Given the description of an element on the screen output the (x, y) to click on. 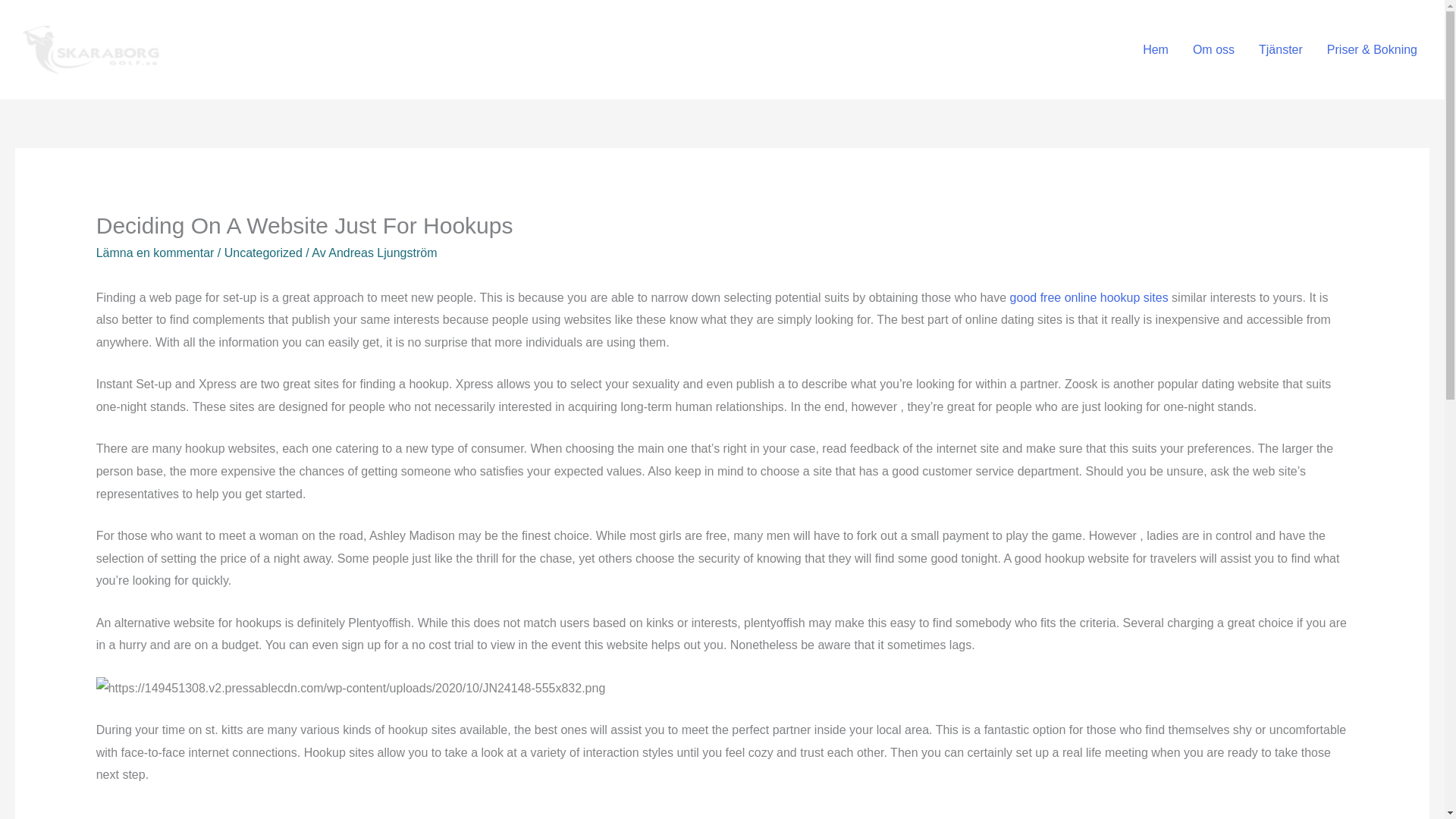
good free online hookup sites (1089, 297)
Hem (1155, 49)
Om oss (1213, 49)
Uncategorized (263, 252)
